Given the description of an element on the screen output the (x, y) to click on. 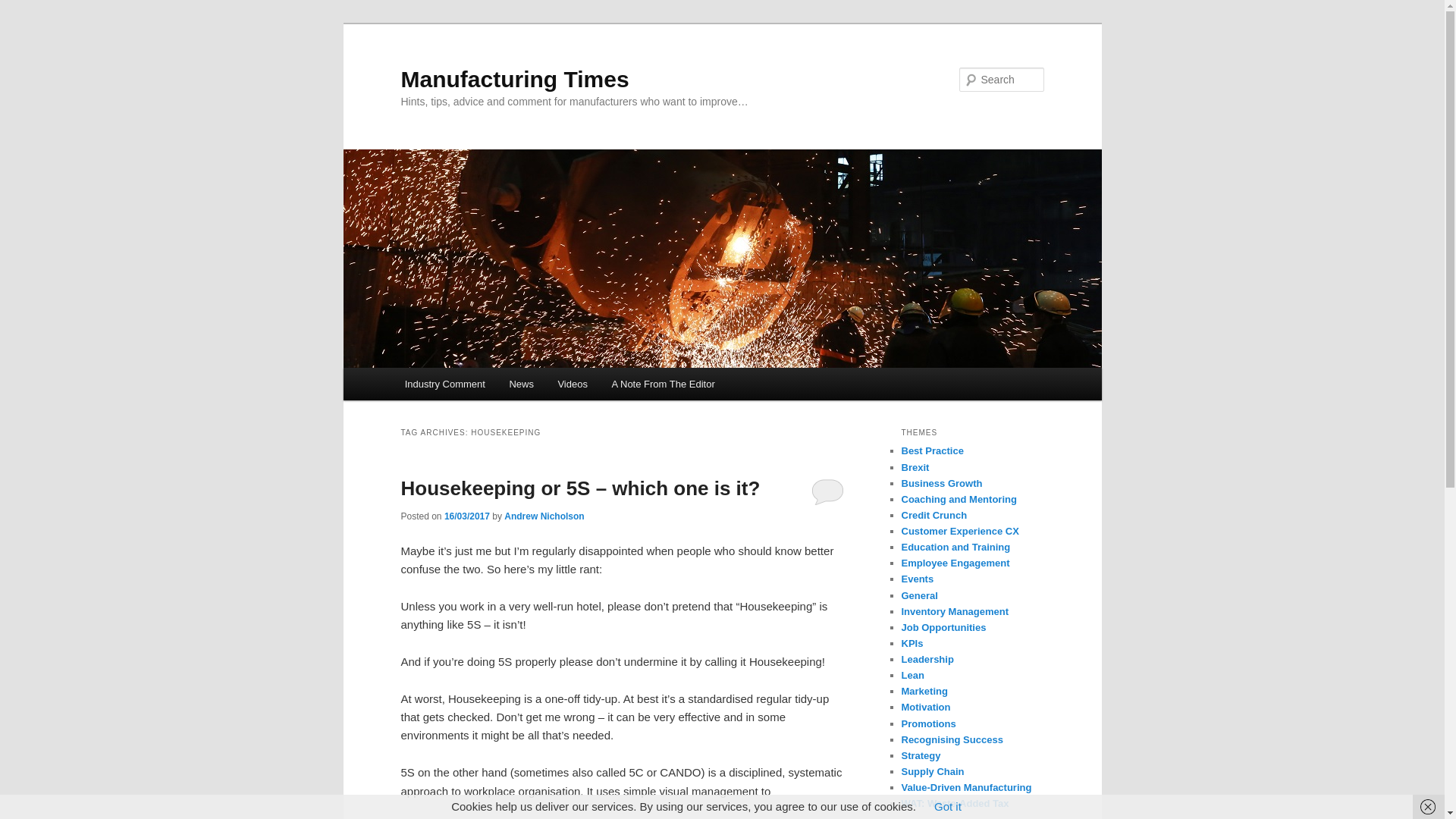
Videos (572, 383)
Coaching and Mentoring (958, 499)
4:25 PM (466, 516)
Inventory Management (955, 611)
News (521, 383)
Business Growth (941, 482)
Events (917, 578)
Employee Engagement (955, 562)
Andrew Nicholson (543, 516)
Industry Comment (445, 383)
Best Practice (931, 450)
KPIs (912, 643)
Brexit (914, 467)
View all posts by Andrew Nicholson (543, 516)
Customer Experience CX (959, 531)
